Given the description of an element on the screen output the (x, y) to click on. 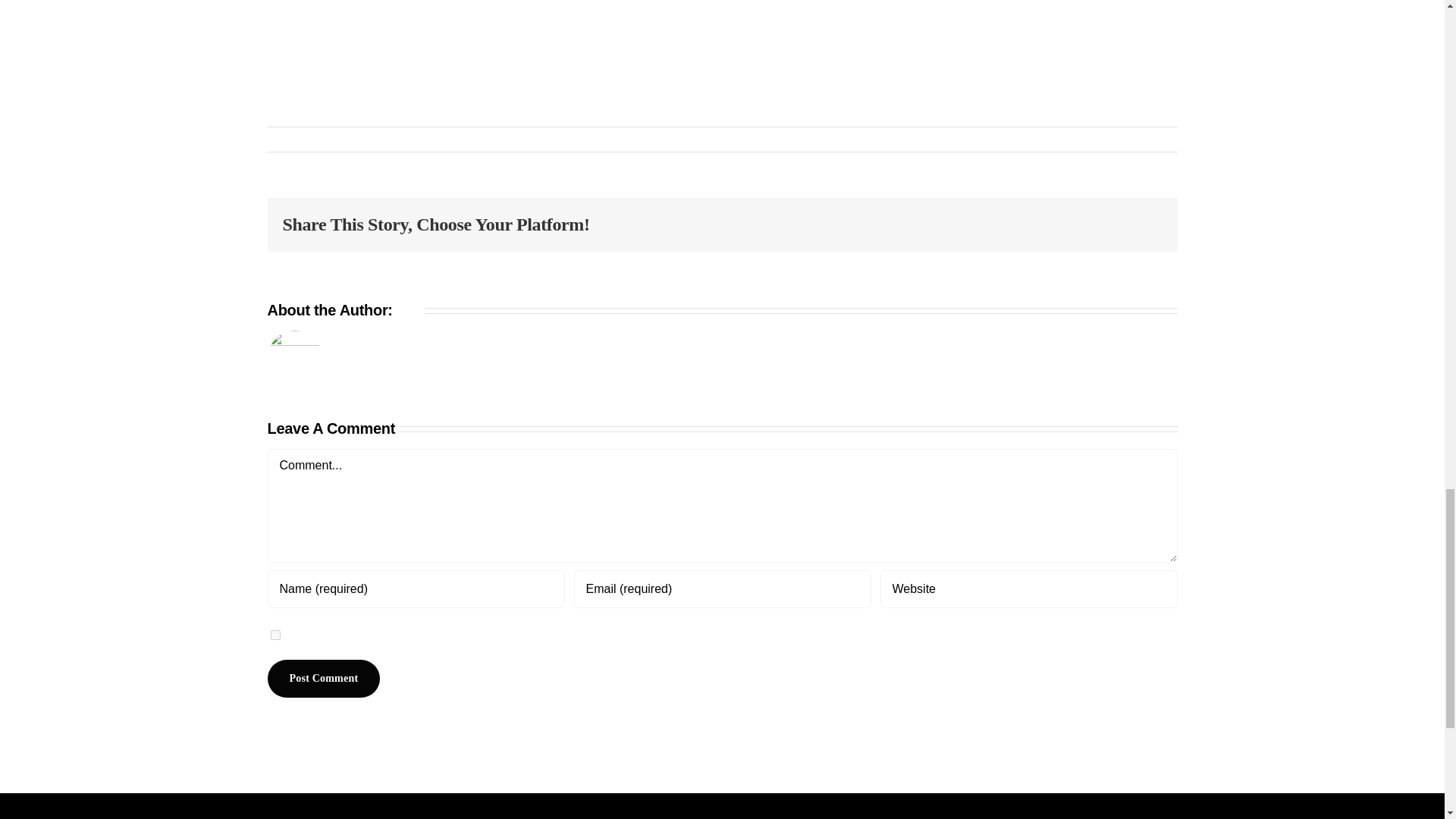
Posts by dev (290, 138)
Post Comment (323, 678)
dev (290, 138)
dev (409, 310)
yes (274, 634)
Post Comment (323, 678)
Posts by dev (409, 310)
0 Comments (419, 138)
